Given the description of an element on the screen output the (x, y) to click on. 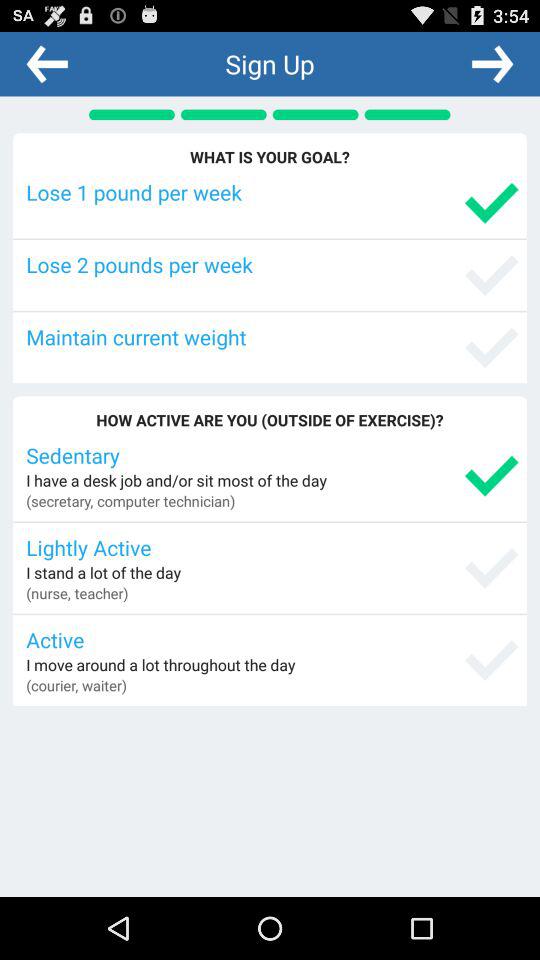
go forward (492, 63)
